Given the description of an element on the screen output the (x, y) to click on. 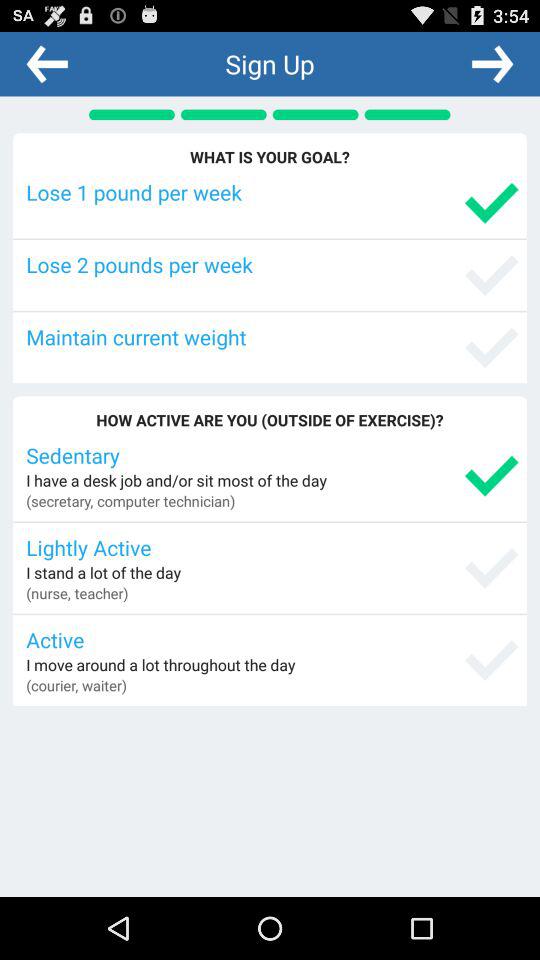
go forward (492, 63)
